Given the description of an element on the screen output the (x, y) to click on. 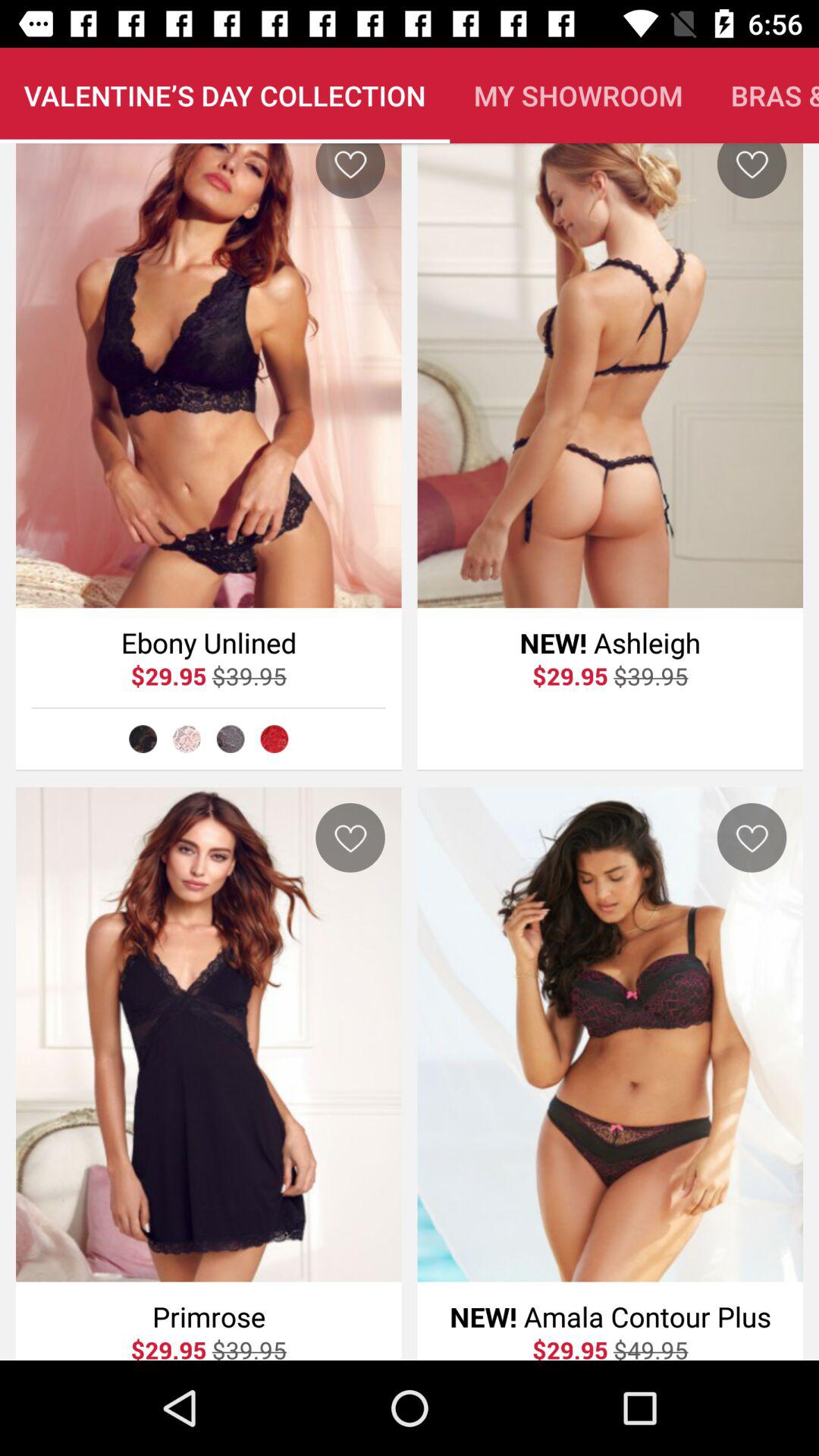
click on color choice (142, 738)
